Given the description of an element on the screen output the (x, y) to click on. 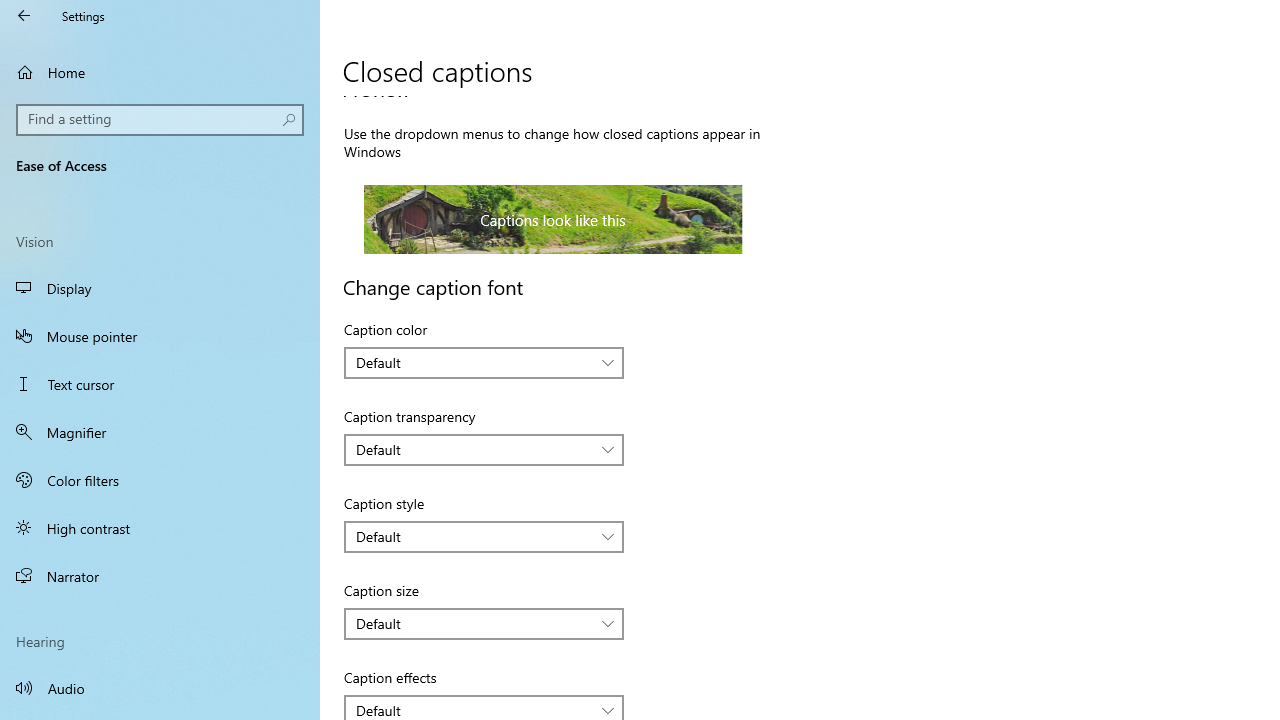
Mouse pointer (160, 335)
